Given the description of an element on the screen output the (x, y) to click on. 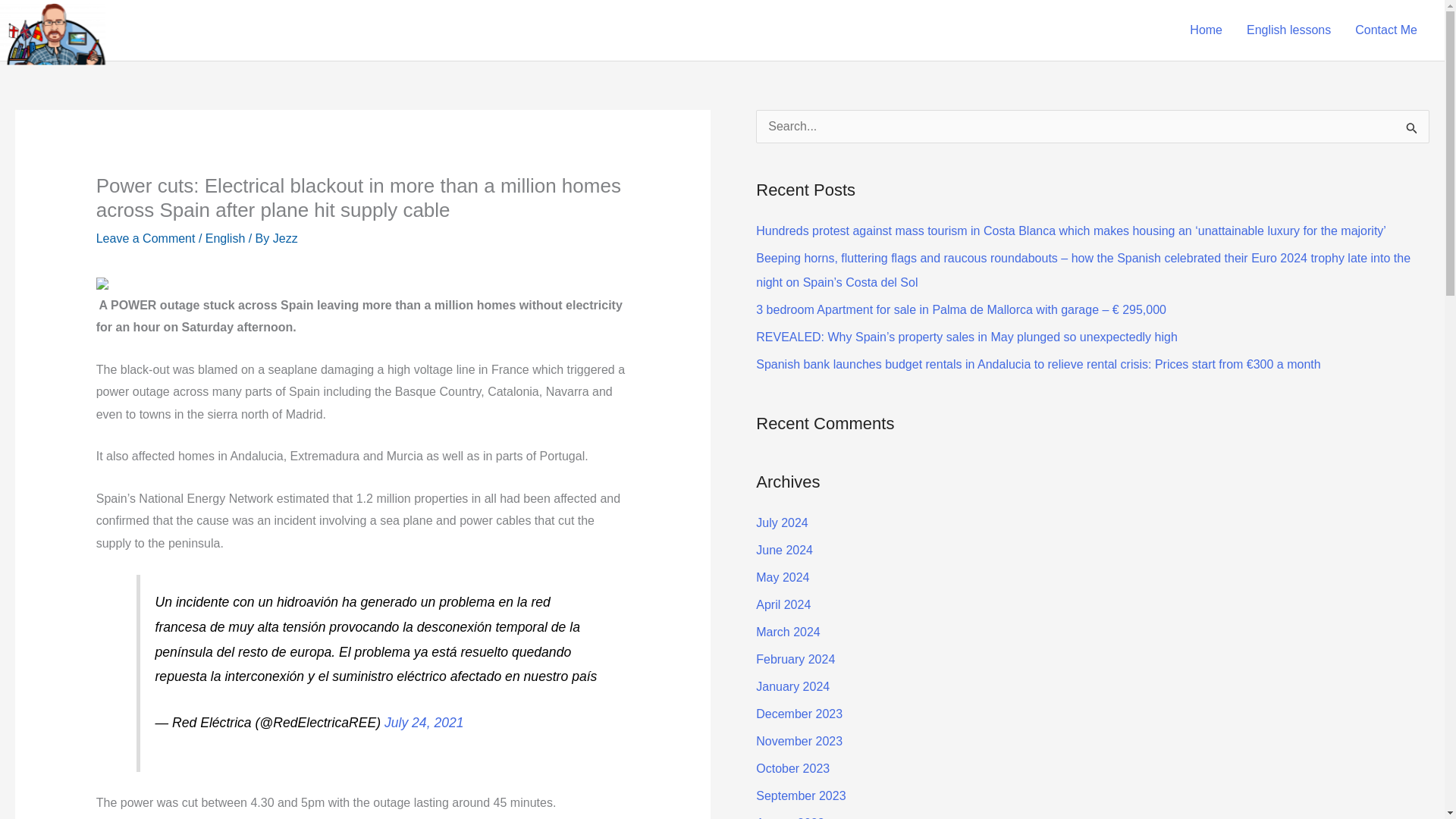
June 2024 (783, 549)
October 2023 (792, 768)
May 2024 (782, 576)
Jezz (285, 237)
Contact Me (1385, 30)
January 2024 (792, 686)
September 2023 (800, 795)
English (224, 237)
Leave a Comment (145, 237)
November 2023 (799, 740)
